Given the description of an element on the screen output the (x, y) to click on. 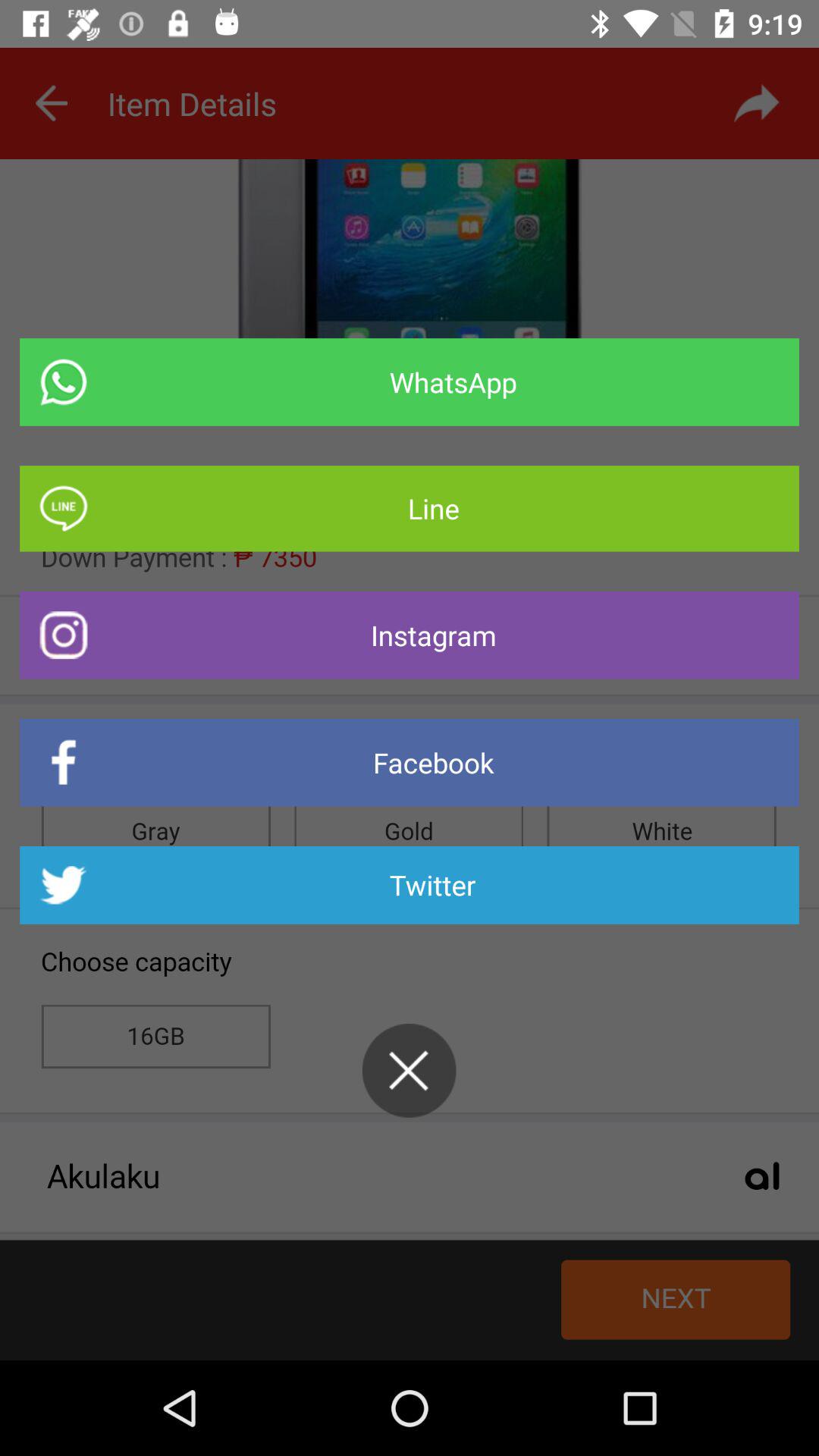
choose instagram (409, 635)
